Given the description of an element on the screen output the (x, y) to click on. 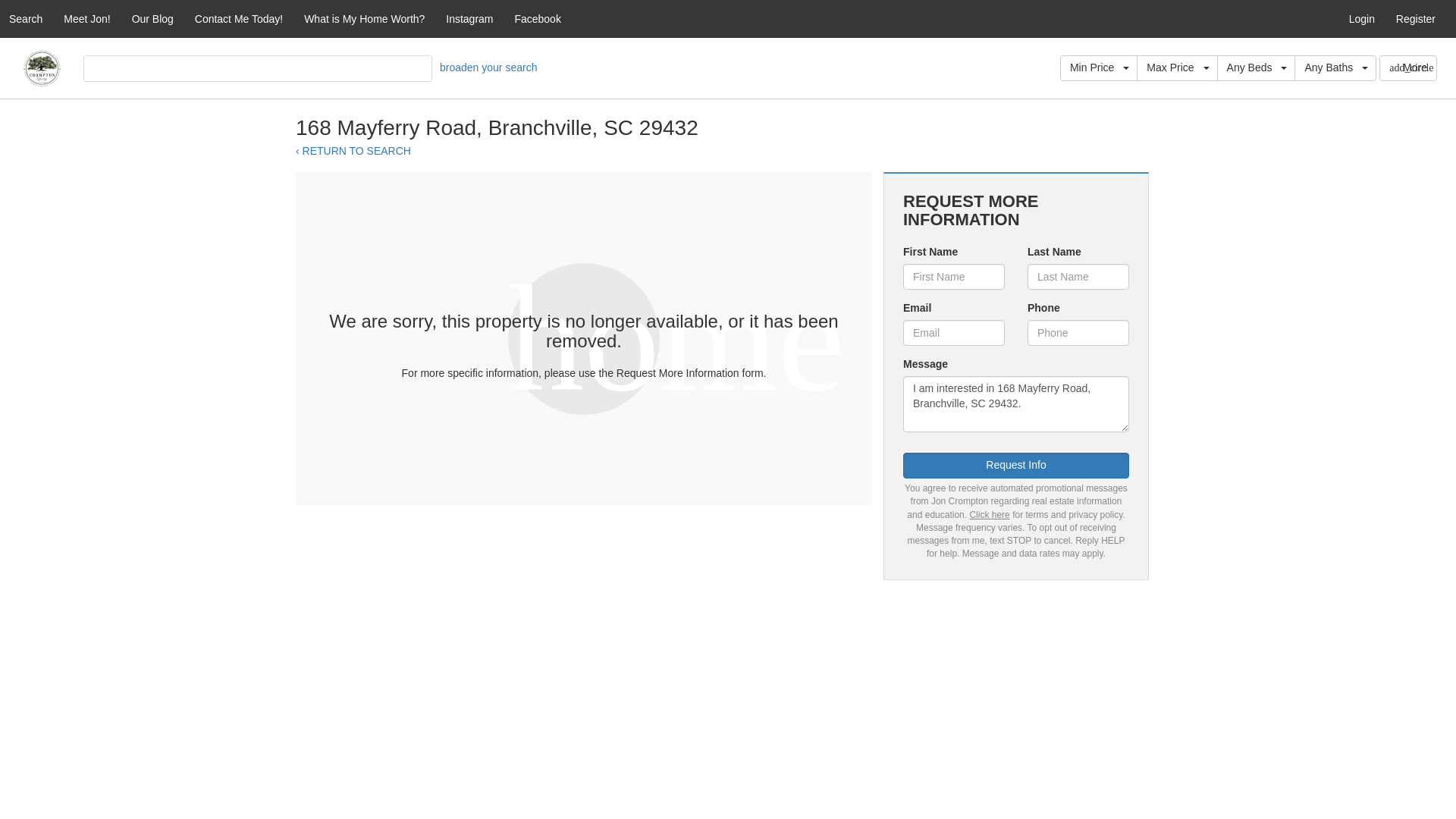
What is My Home Worth? (364, 18)
Facebook (537, 18)
Register (1415, 18)
Login (1361, 18)
Min Price (1098, 68)
Instagram (469, 18)
Meet Jon! (87, 18)
broaden your search (488, 67)
Contact Me Today! (239, 18)
Our Blog (152, 18)
